Given the description of an element on the screen output the (x, y) to click on. 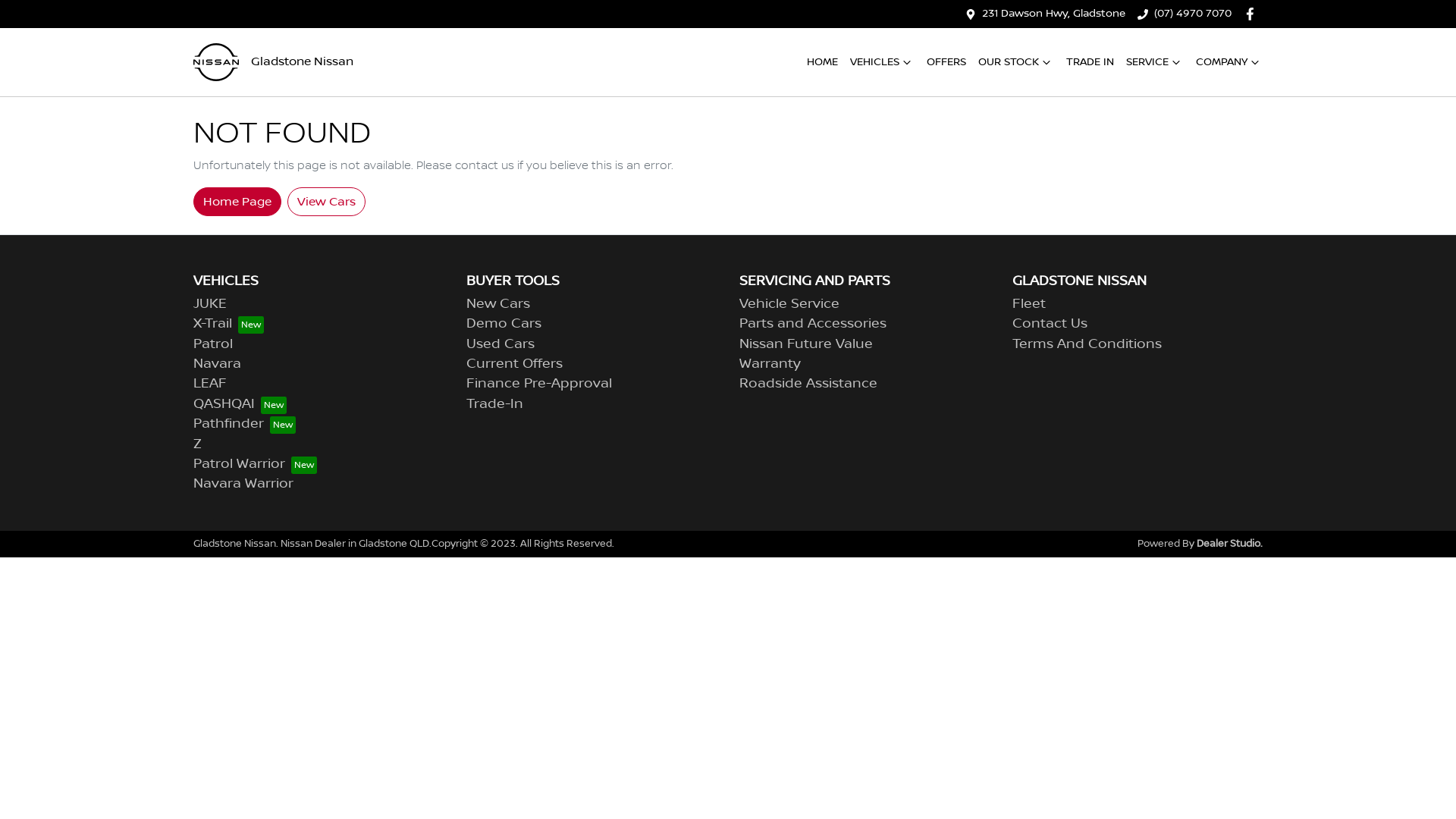
Current Offers Element type: text (514, 363)
HOME Element type: text (821, 62)
Gladstone Nissan Element type: text (273, 62)
Demo Cars Element type: text (503, 323)
Home Page Element type: text (237, 200)
Vehicle Service Element type: text (789, 303)
View Cars Element type: text (326, 200)
Navara Element type: text (217, 363)
LEAF Element type: text (209, 383)
Nissan Future Value Element type: text (805, 343)
New Cars Element type: text (498, 303)
COMPANY Element type: text (1228, 62)
OFFERS Element type: text (946, 62)
TRADE IN Element type: text (1089, 62)
Warranty Element type: text (769, 363)
X-Trail Element type: text (228, 323)
Dealer Studio. Element type: text (1229, 543)
Terms And Conditions Element type: text (1086, 343)
231 Dawson Hwy, Gladstone Element type: text (1053, 13)
OUR STOCK Element type: text (1016, 62)
Pathfinder Element type: text (244, 423)
Z Element type: text (197, 444)
Roadside Assistance Element type: text (808, 383)
Trade-In Element type: text (494, 403)
JUKE Element type: text (209, 303)
Patrol Element type: text (212, 343)
VEHICLES Element type: text (882, 62)
Used Cars Element type: text (500, 343)
Fleet Element type: text (1028, 303)
QASHQAI Element type: text (239, 403)
Navara Warrior Element type: text (243, 483)
(07) 4970 7070 Element type: text (1192, 13)
SERVICE Element type: text (1154, 62)
Patrol Warrior Element type: text (254, 463)
Parts and Accessories Element type: text (812, 323)
Contact Us Element type: text (1049, 323)
Finance Pre-Approval Element type: text (538, 383)
